Given the description of an element on the screen output the (x, y) to click on. 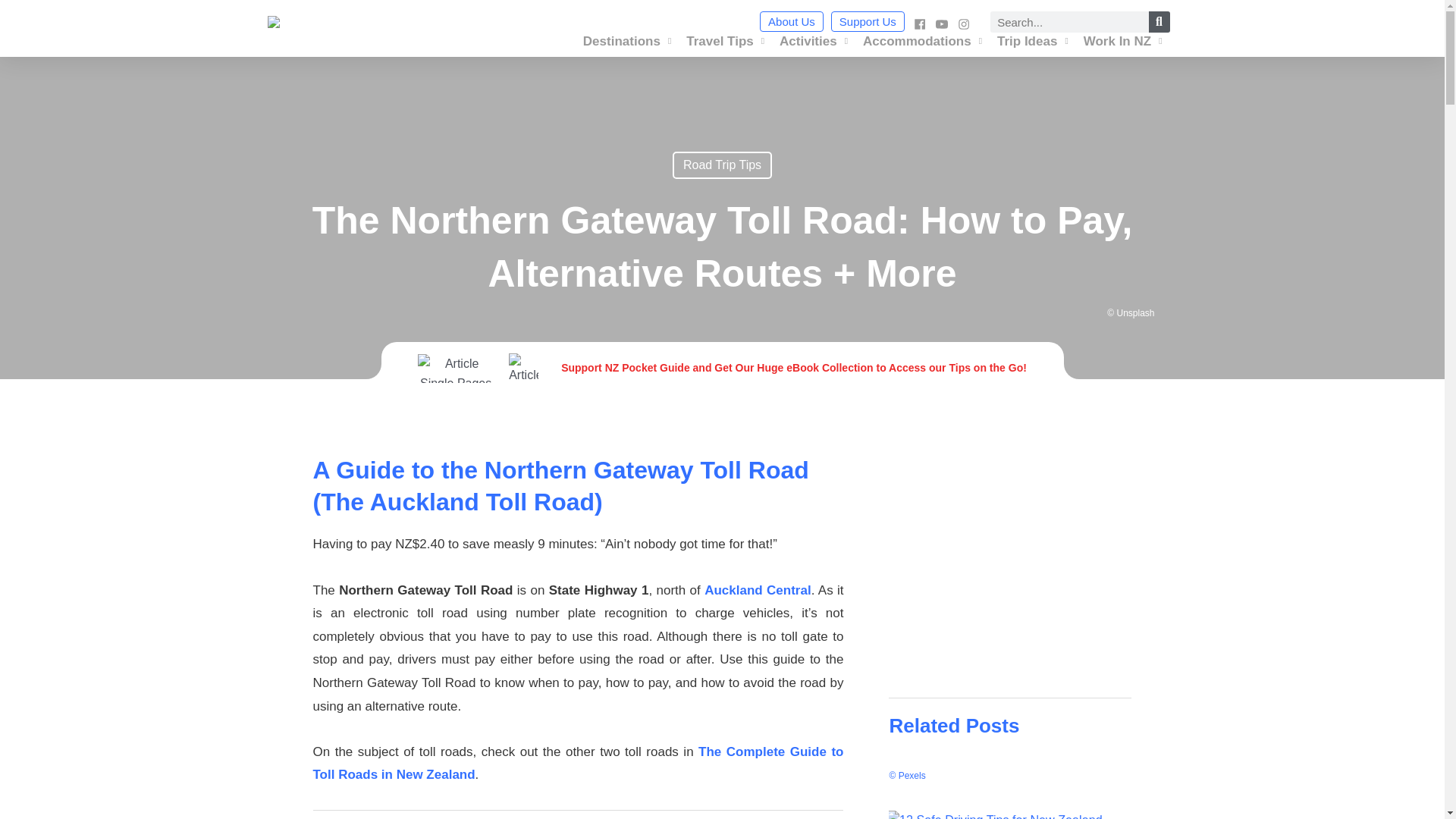
Support Us (867, 21)
Destinations (627, 41)
About Us (792, 21)
Search (1158, 21)
